Given the description of an element on the screen output the (x, y) to click on. 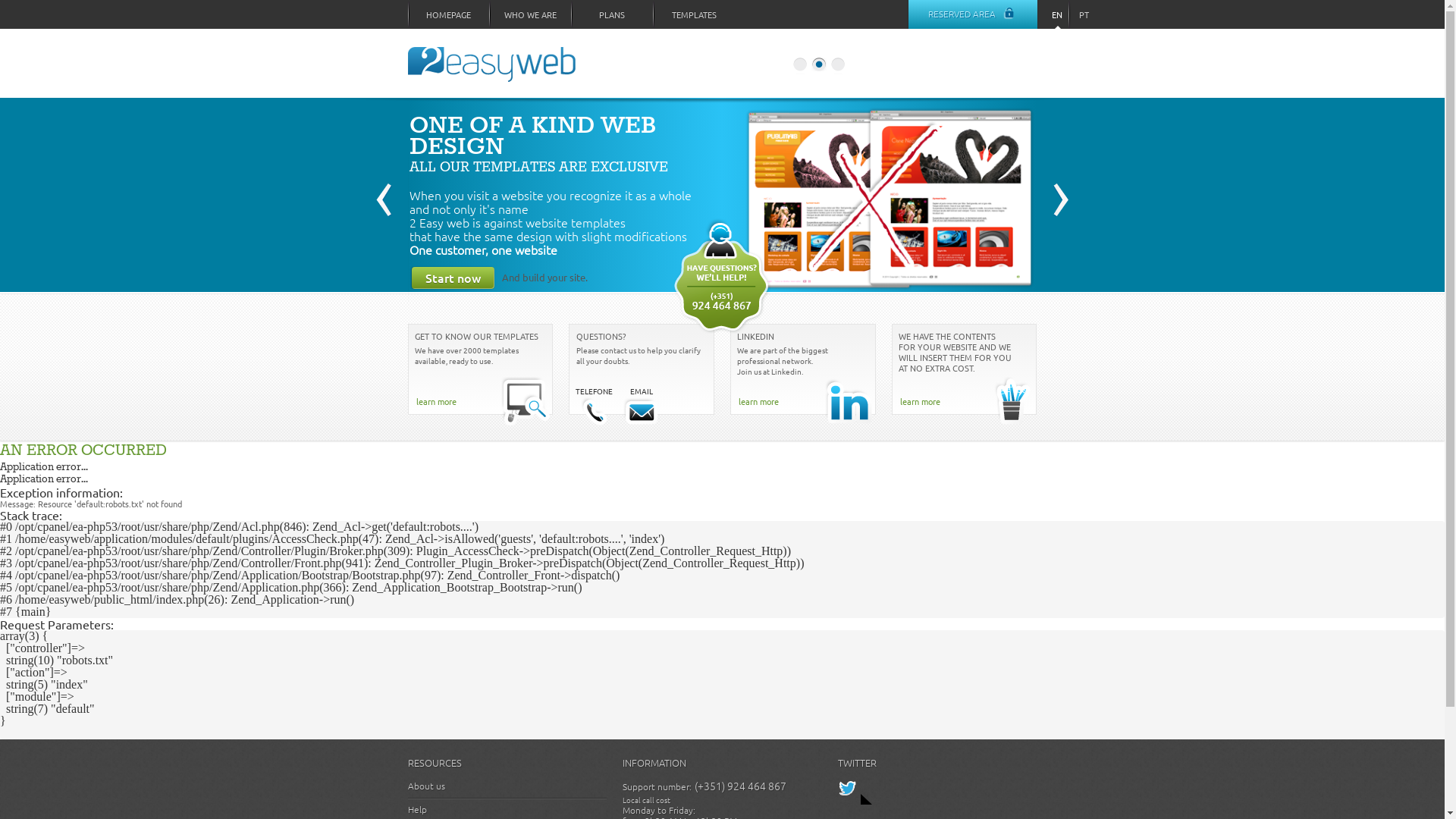
About us Element type: text (426, 785)
2 Element type: text (817, 65)
WHO WE ARE Element type: text (530, 14)
learn more Element type: text (920, 400)
TEMPLATES Element type: text (693, 14)
Help Element type: text (416, 809)
learn more Element type: text (435, 400)
2easyweb Element type: hover (492, 72)
PLANS Element type: text (611, 14)
RESERVED AREA Element type: text (972, 14)
learn more Element type: text (758, 400)
3 Element type: text (837, 65)
Start now Element type: text (508, 277)
  PT Element type: text (1080, 14)
  EN Element type: text (1053, 14)
1 Element type: text (799, 65)
HOMEPAGE Element type: text (448, 14)
